Given the description of an element on the screen output the (x, y) to click on. 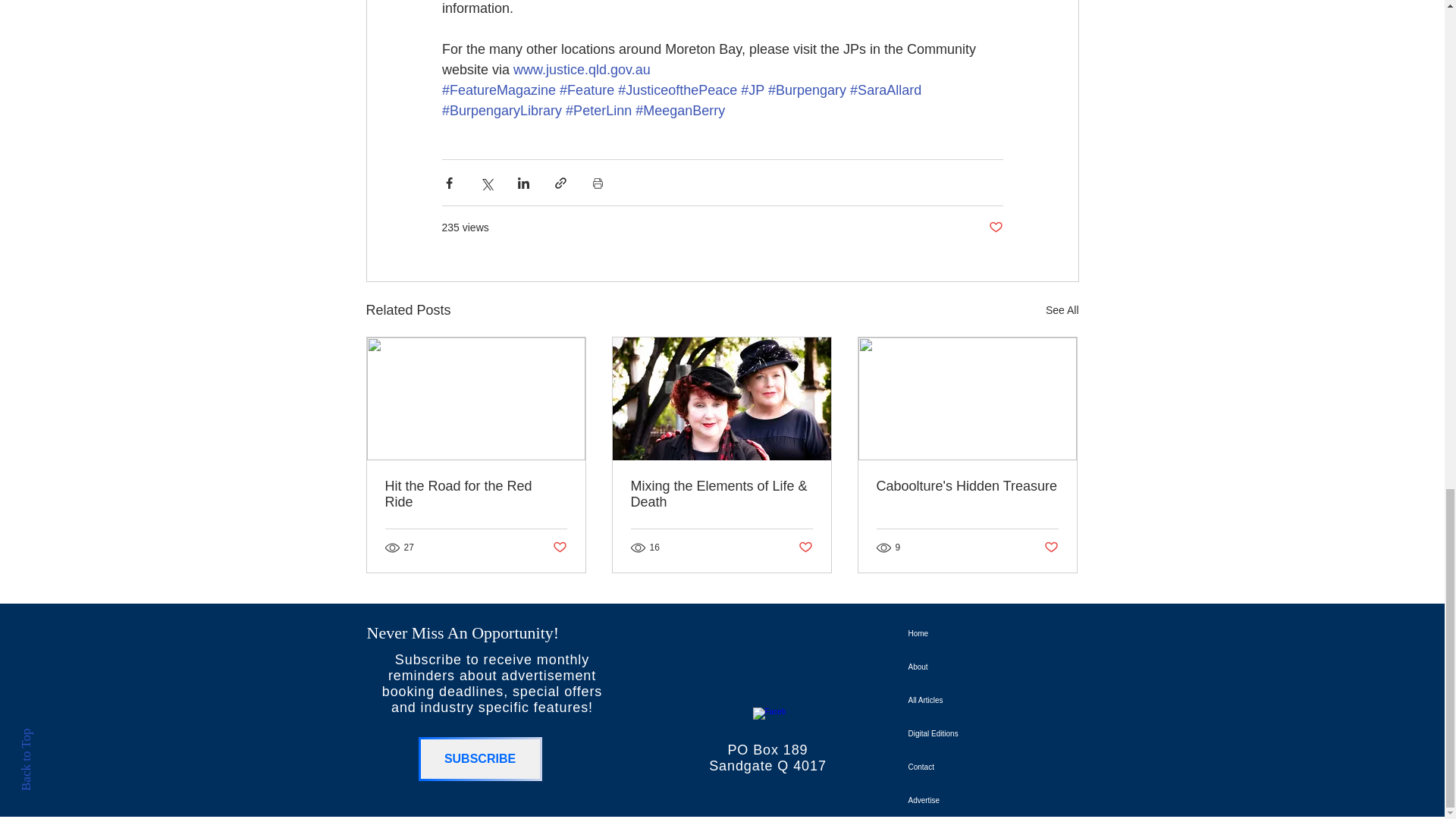
Post not marked as liked (558, 546)
www.justice.qld.gov.au (581, 69)
Caboolture's Hidden Treasure (967, 486)
Post not marked as liked (995, 227)
Post not marked as liked (804, 546)
Post not marked as liked (1050, 546)
See All (1061, 310)
Hit the Road for the Red Ride  (476, 494)
